Given the description of an element on the screen output the (x, y) to click on. 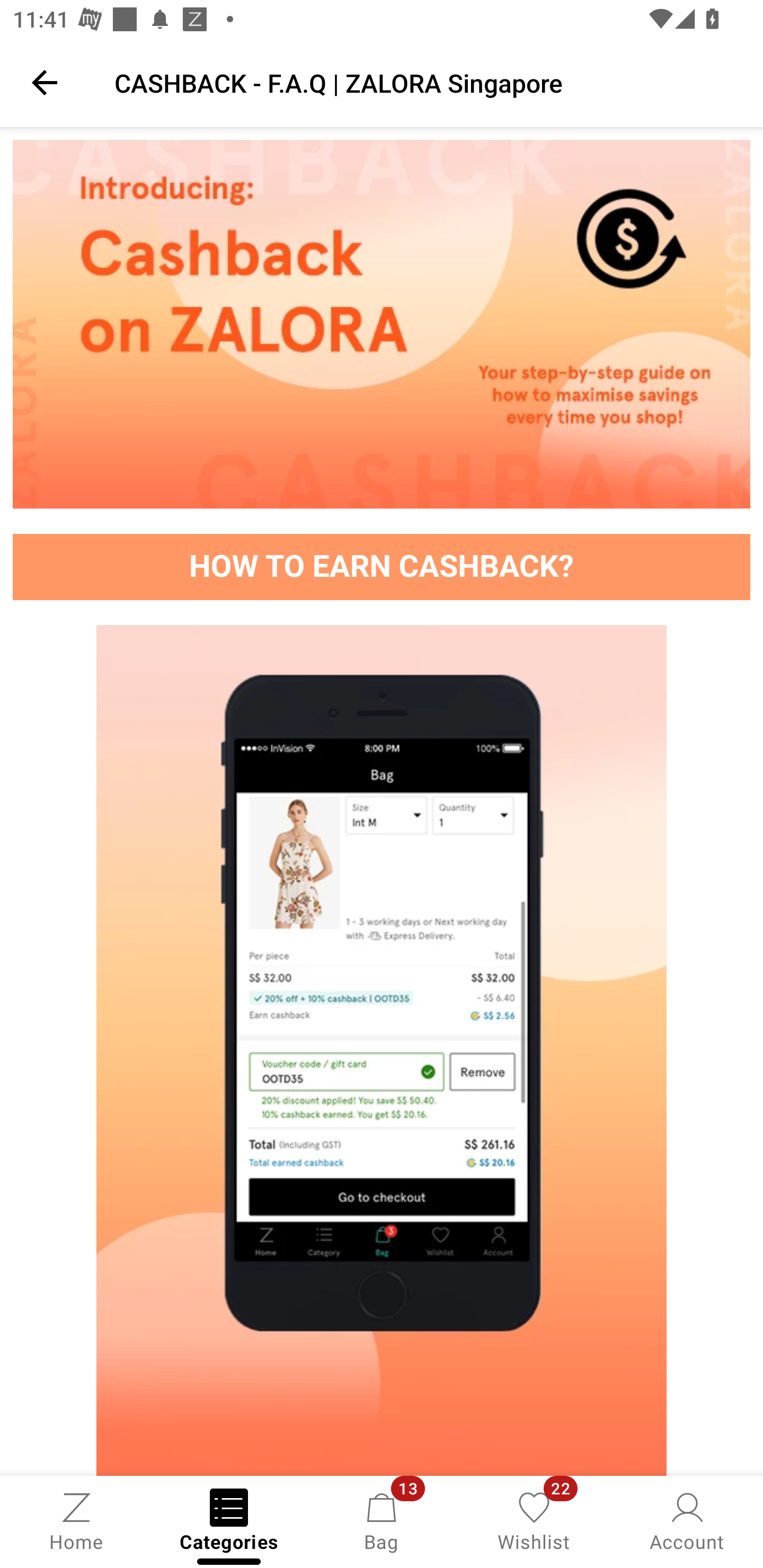
Navigate up (44, 82)
CASHBACK - F.A.Q | ZALORA Singapore (426, 82)
Home (76, 1519)
Bag, 13 new notifications Bag (381, 1519)
Wishlist, 22 new notifications Wishlist (533, 1519)
Account (686, 1519)
